Given the description of an element on the screen output the (x, y) to click on. 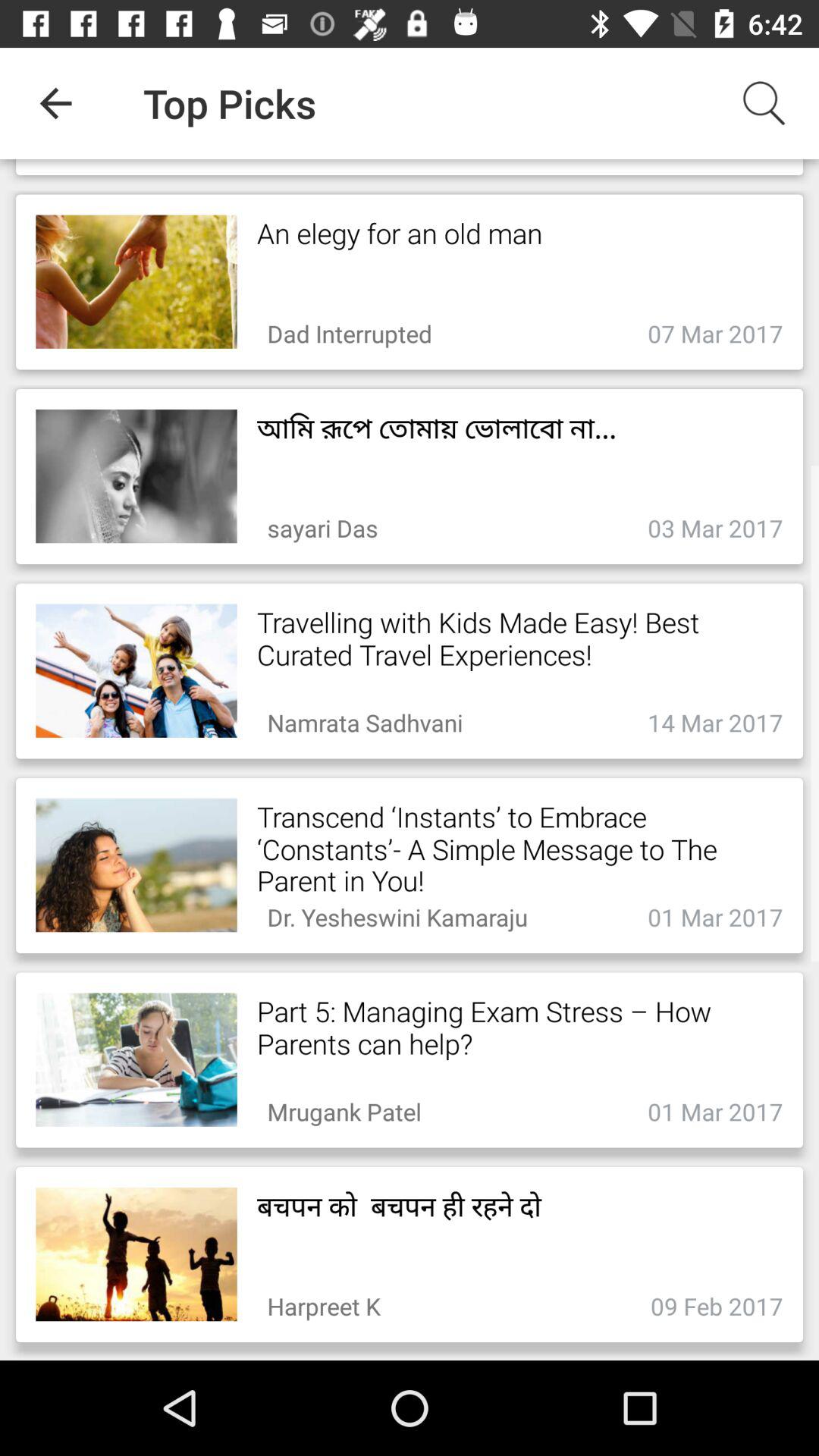
click the item to the right of top picks app (763, 103)
